Given the description of an element on the screen output the (x, y) to click on. 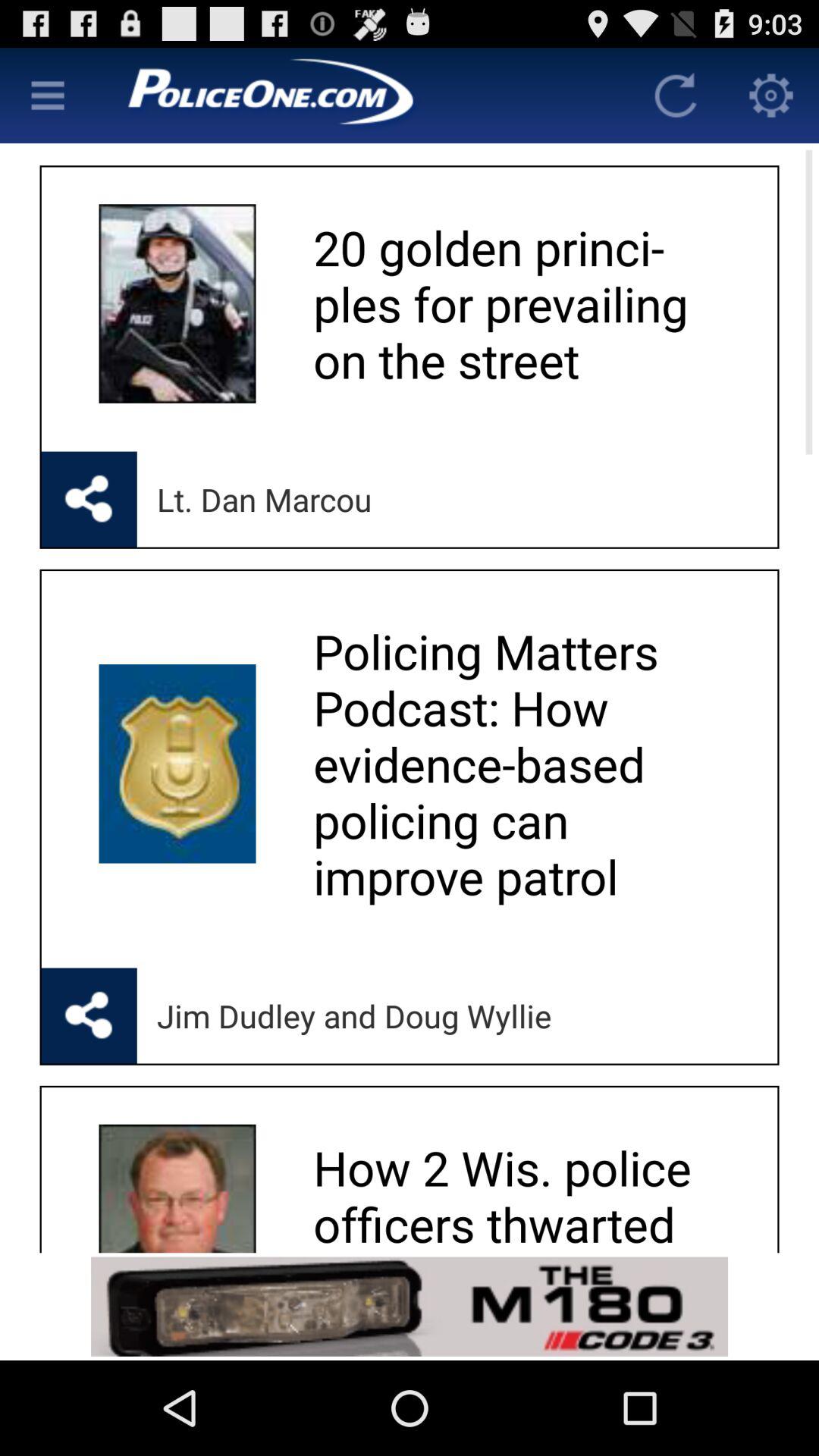
go to menu option (47, 95)
